Given the description of an element on the screen output the (x, y) to click on. 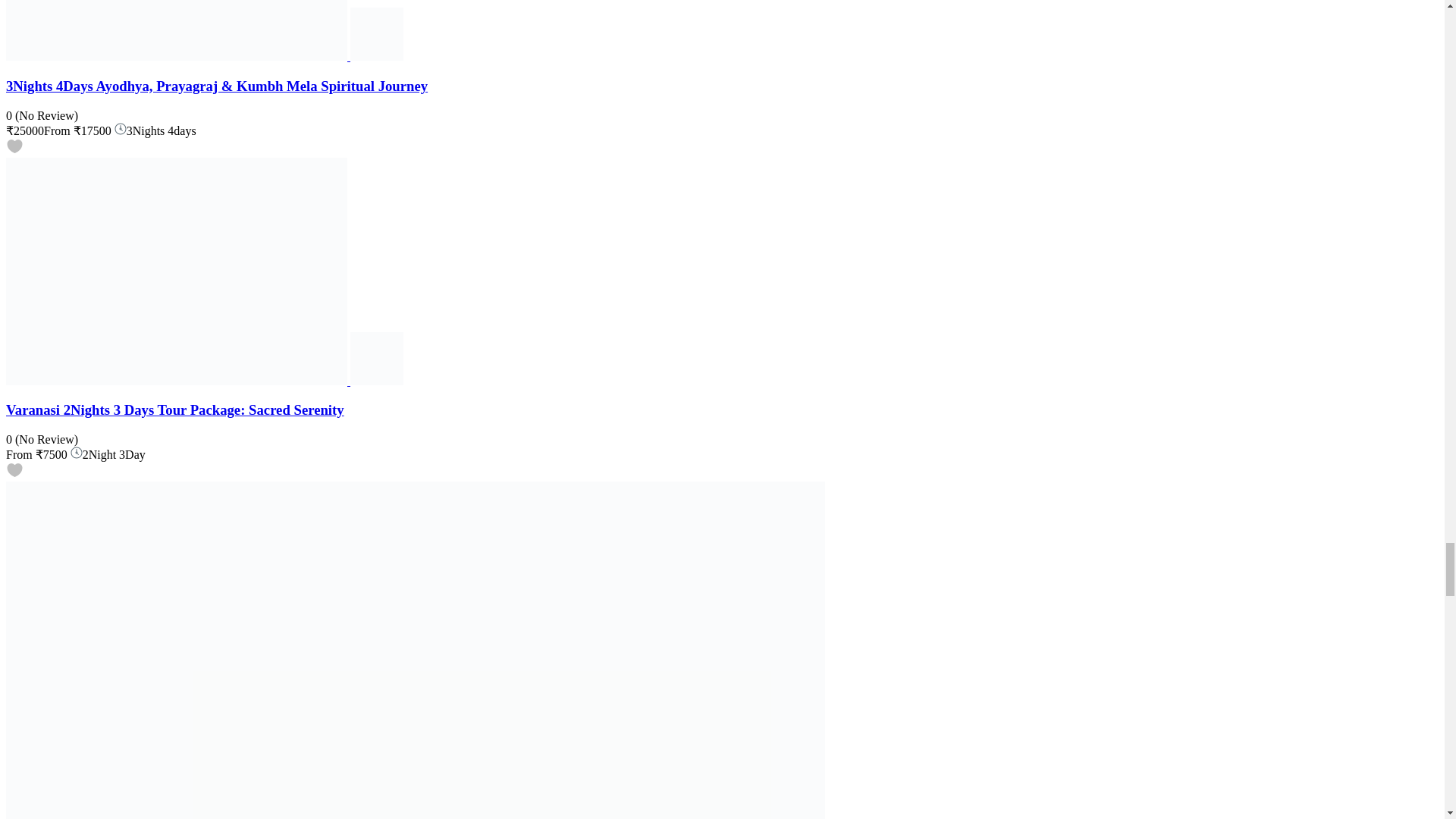
TripCosmos co (376, 56)
TripCosmos co (376, 380)
